Given the description of an element on the screen output the (x, y) to click on. 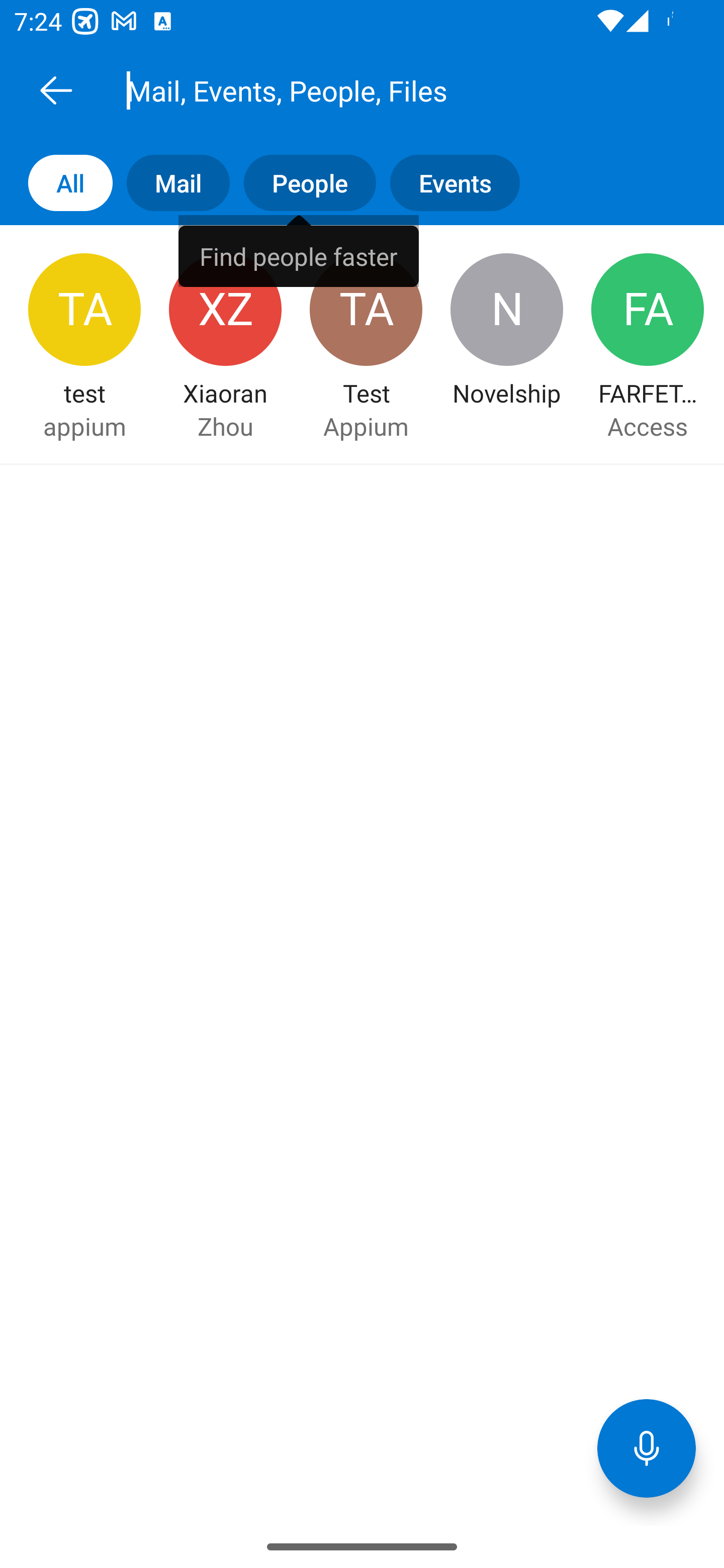
Find people faster (298, 250)
